Given the description of an element on the screen output the (x, y) to click on. 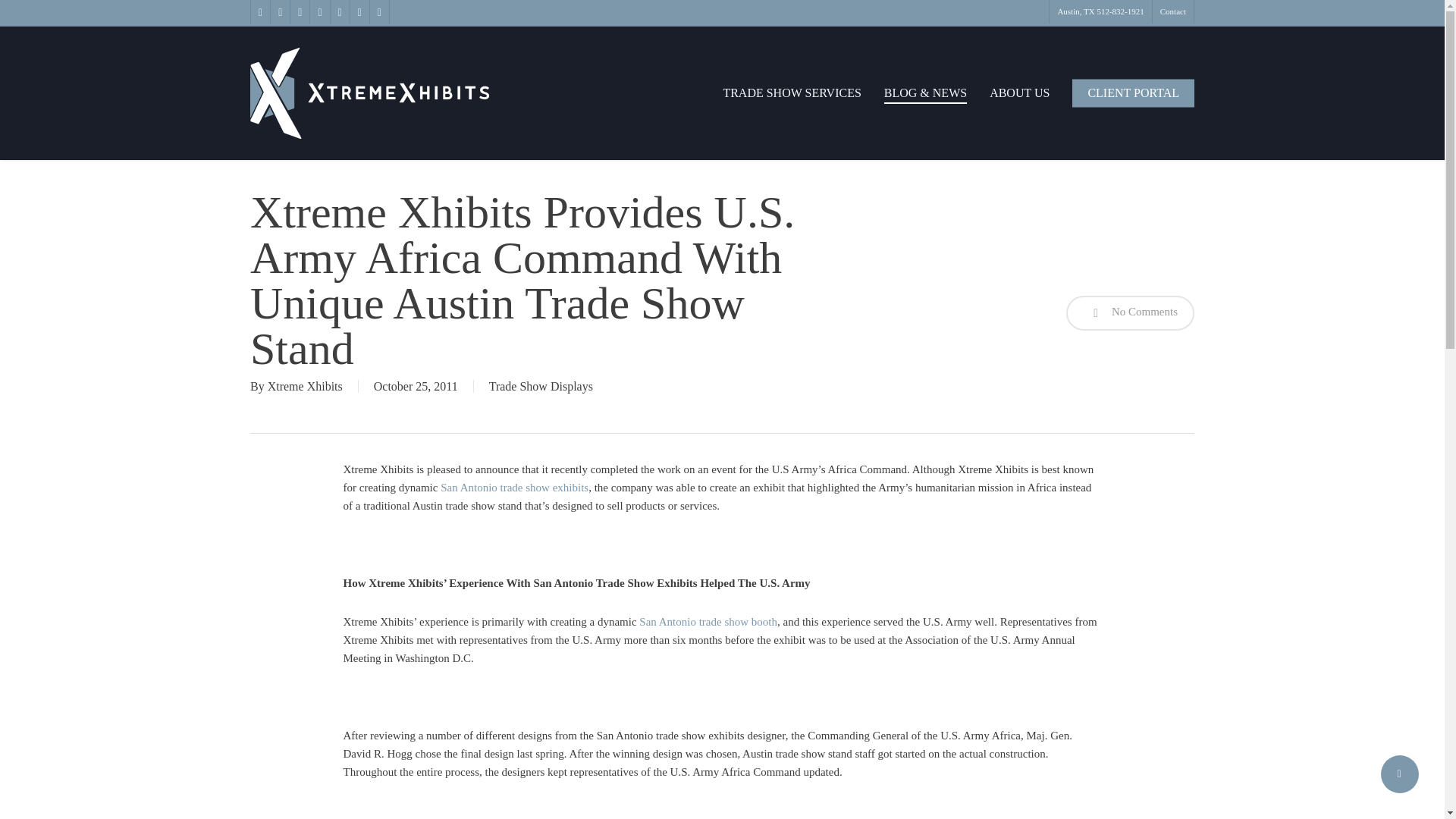
Contact (1172, 11)
Austin, TX 512-832-1921 (1099, 11)
Xtreme Xhibits (304, 386)
San Antonio trade show exhibits (514, 487)
San Antonio trade show booth (708, 621)
Posts by Xtreme Xhibits (304, 386)
TRADE SHOW SERVICES (791, 92)
Trade Show Displays (540, 386)
No Comments (1129, 312)
ABOUT US (1019, 92)
